Given the description of an element on the screen output the (x, y) to click on. 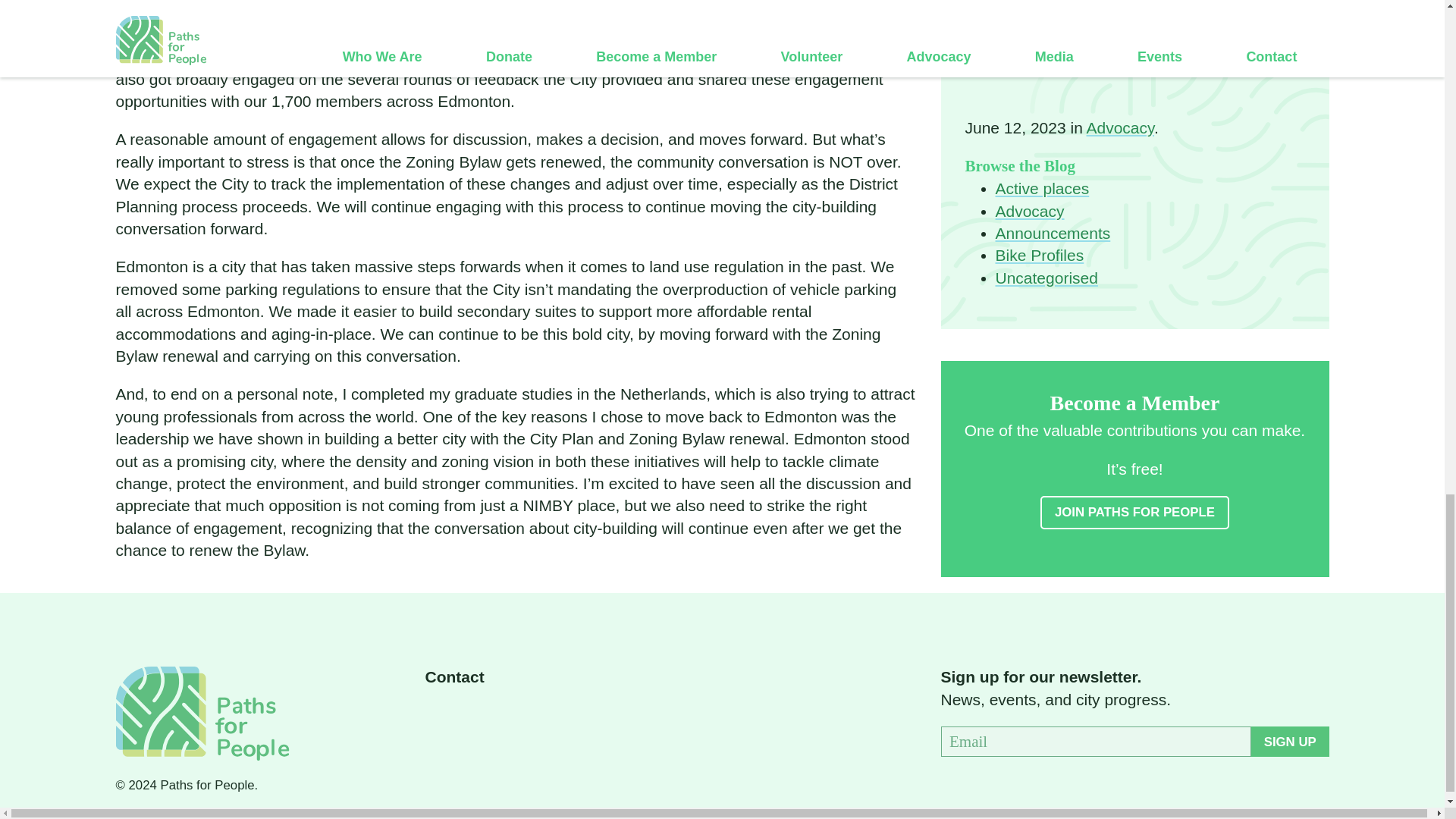
Twitter (475, 715)
Instagram (513, 715)
Contact (454, 676)
Paths for People (202, 712)
Facebook (435, 715)
SIGN UP (1289, 741)
LinkedIn (552, 715)
